Given the description of an element on the screen output the (x, y) to click on. 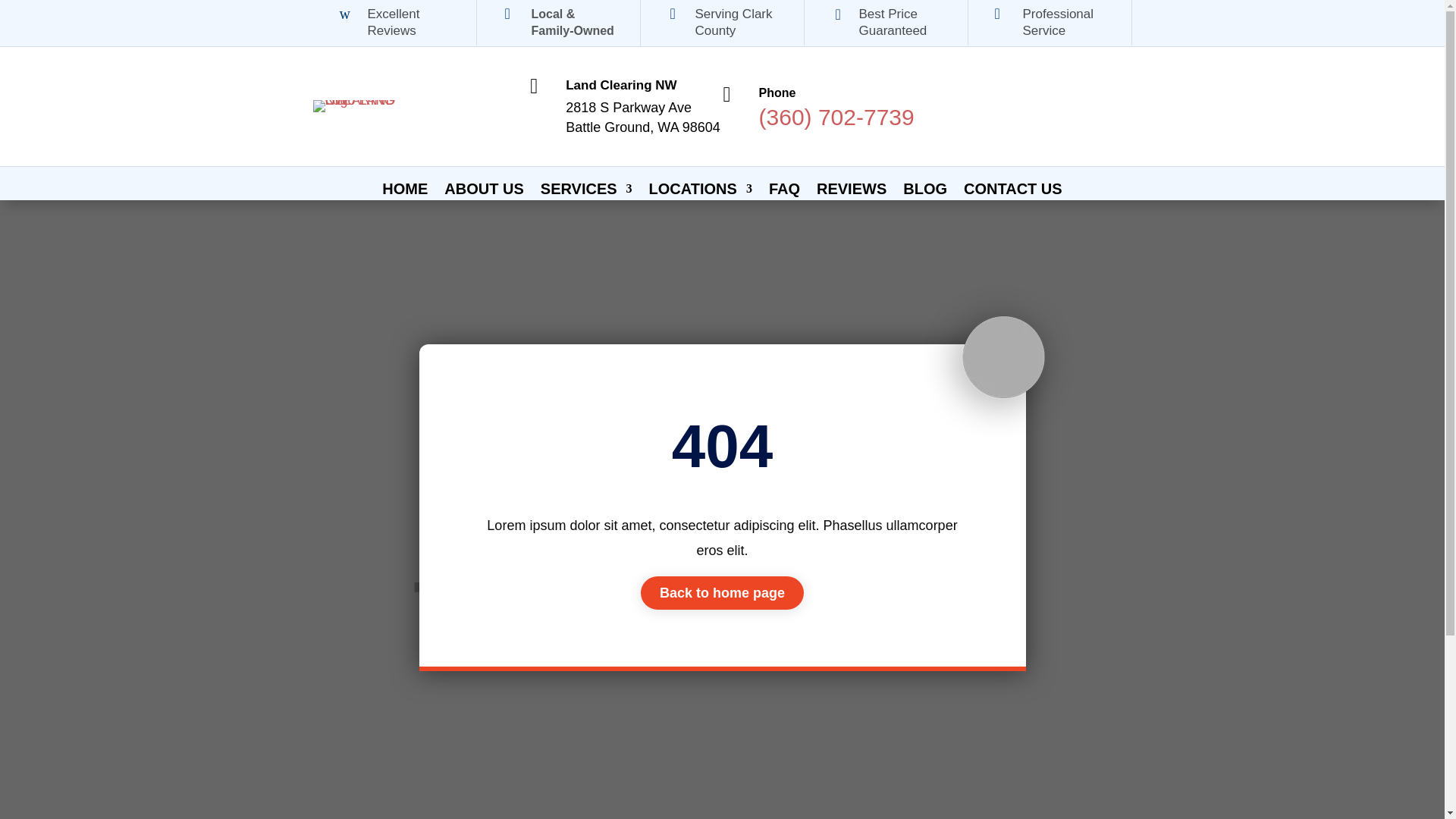
HOME (404, 191)
LOCATIONS (700, 191)
Logo LAND CLEARING NW (355, 105)
ABOUT US (483, 191)
floating-200x200 (997, 361)
SERVICES (585, 191)
